Given the description of an element on the screen output the (x, y) to click on. 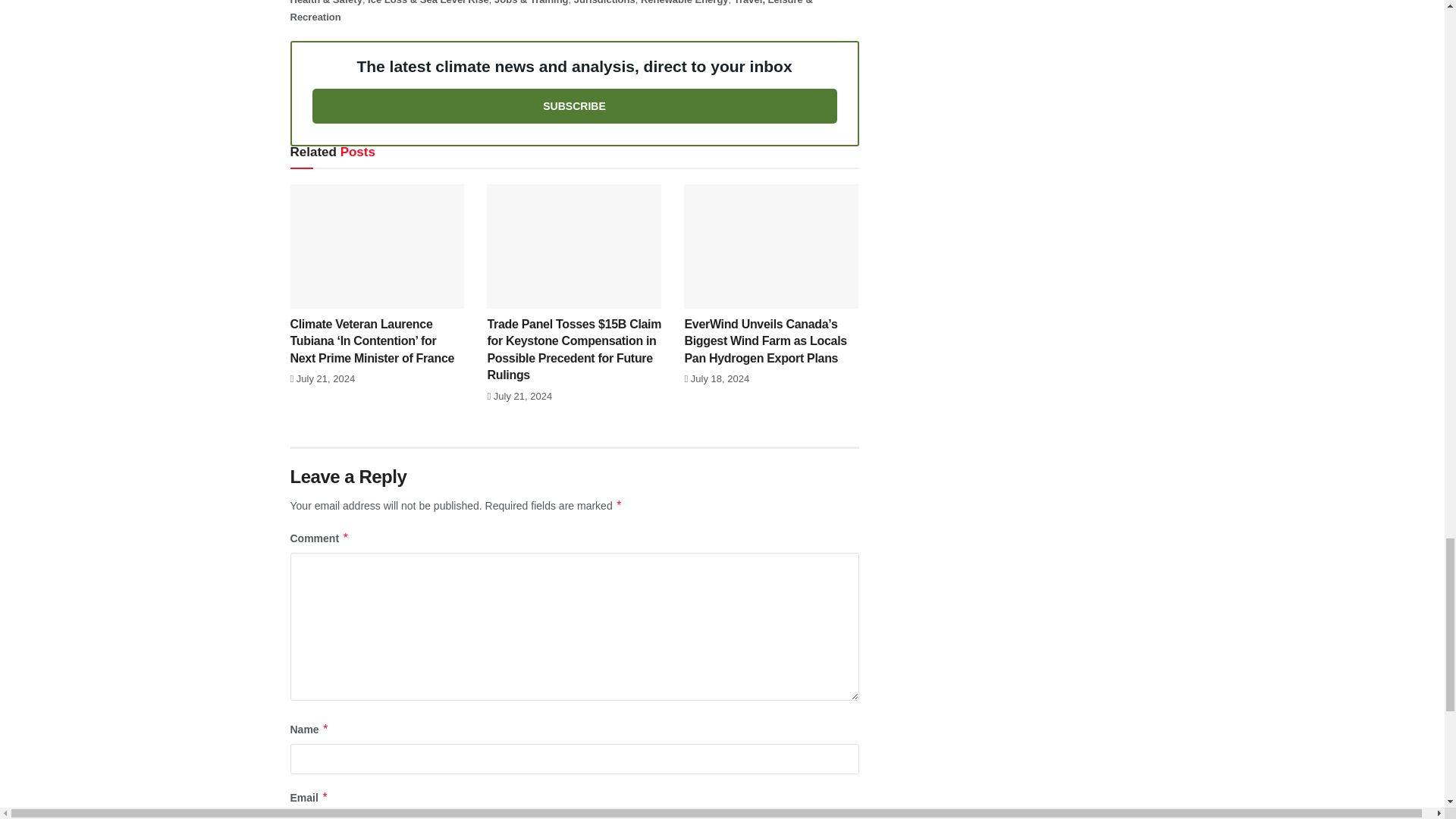
View Subscription Options (575, 105)
